Given the description of an element on the screen output the (x, y) to click on. 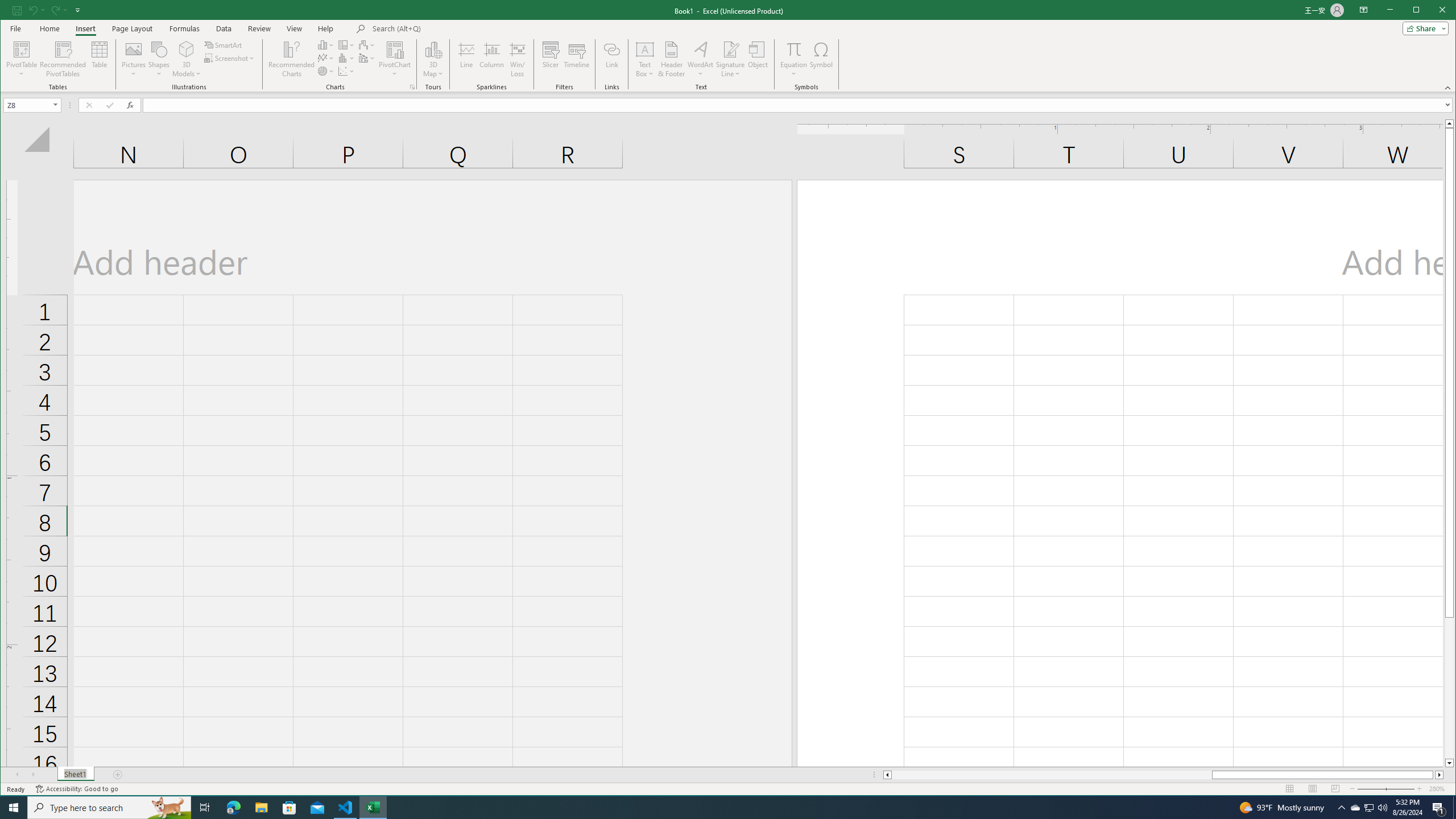
Running applications (717, 807)
Text Box (644, 59)
Win/Loss (517, 59)
Link (611, 59)
Insert Statistic Chart (346, 57)
Line (466, 59)
File Explorer (261, 807)
3D Map (432, 59)
Q2790: 100% (1382, 807)
Start (13, 807)
